Given the description of an element on the screen output the (x, y) to click on. 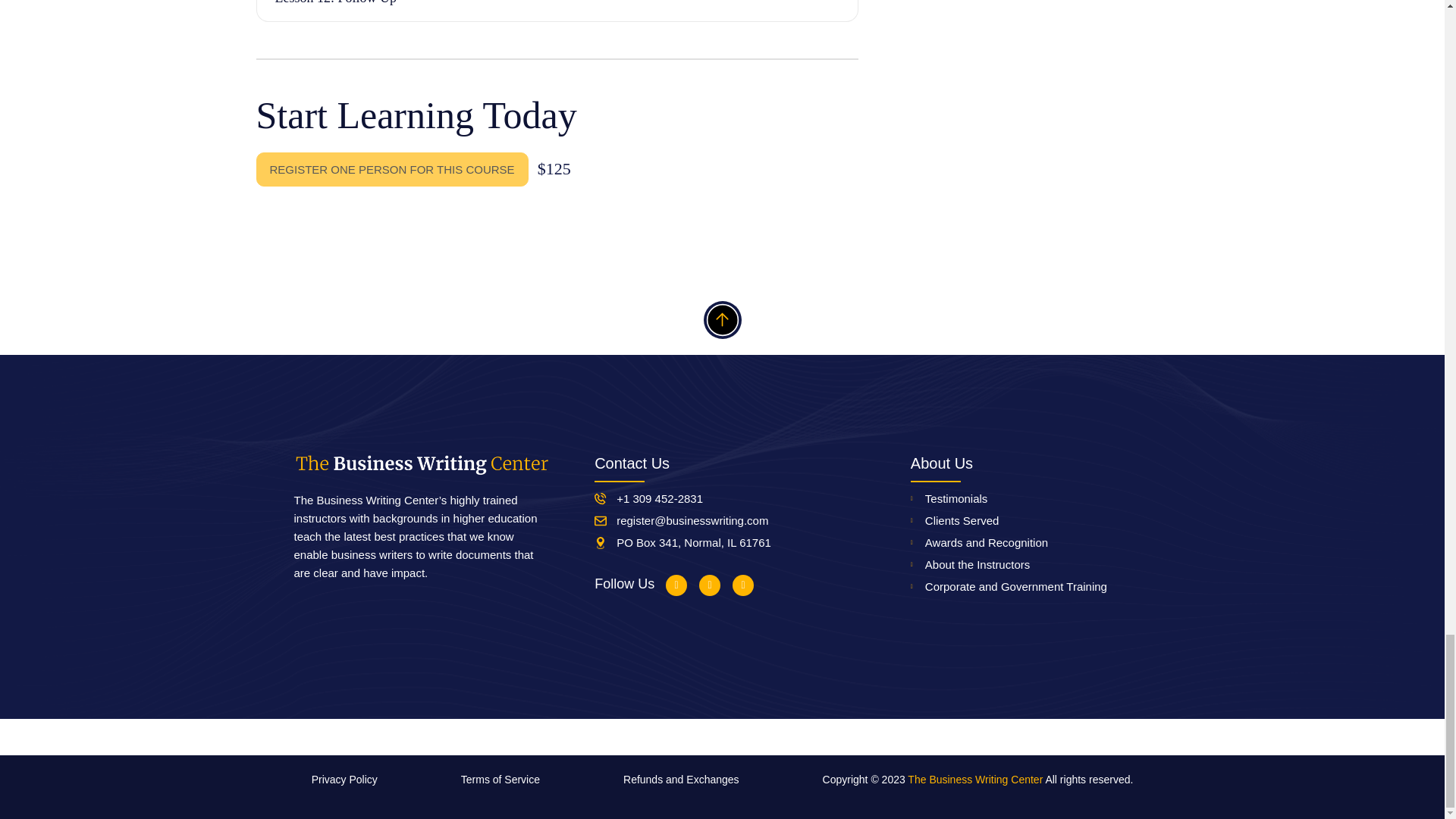
REGISTER ONE PERSON FOR THIS COURSE (392, 169)
PayPal Message 2 (557, 204)
